Given the description of an element on the screen output the (x, y) to click on. 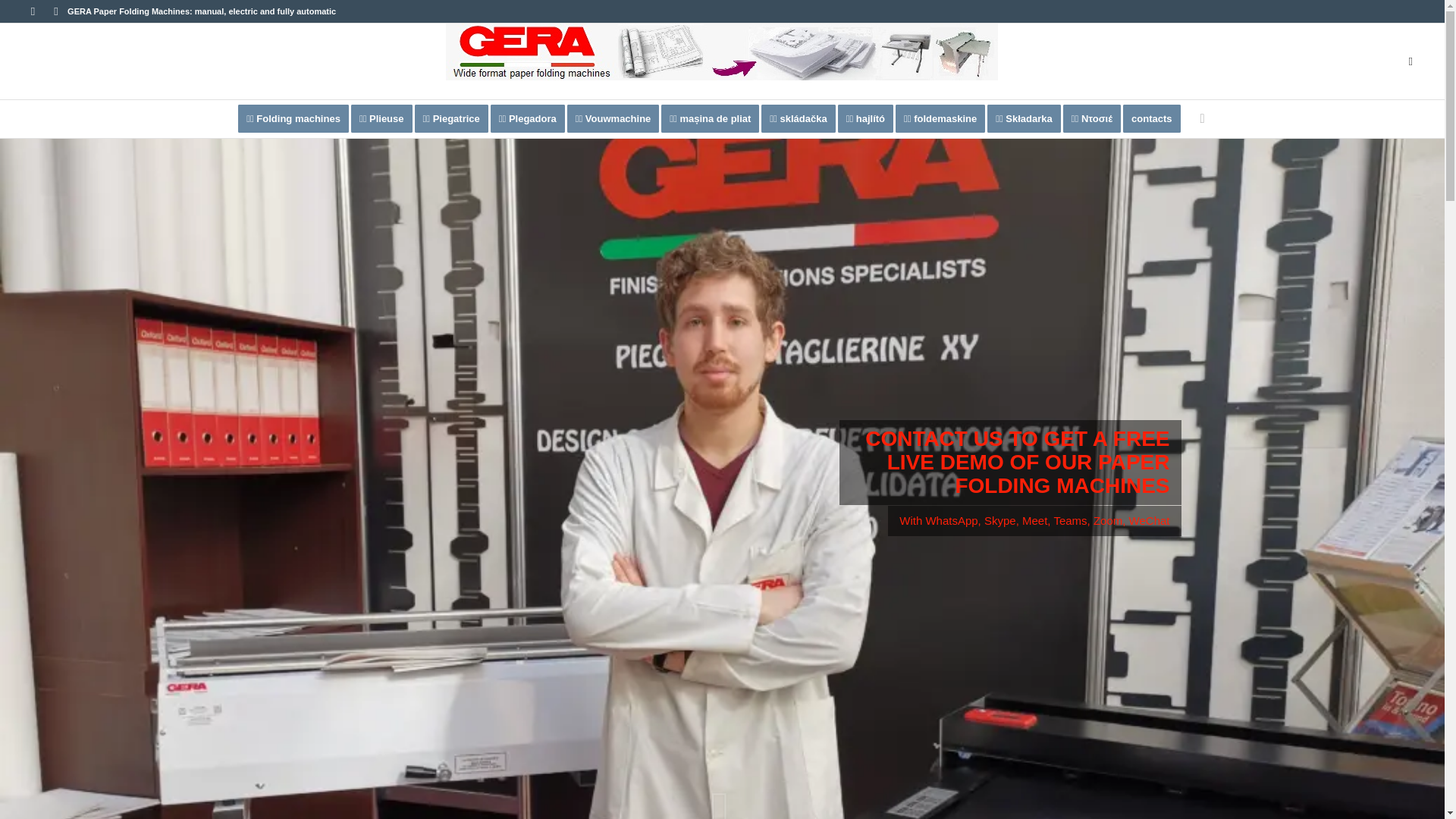
Scegliere la piegatrice per disegni (455, 118)
Logo gera extra lungo (721, 51)
Paper folding machine (293, 118)
LinkedIn (55, 11)
Logo gera extra lungo (721, 61)
Youtube (32, 11)
Plegadoras para papel A4  (532, 118)
FR Plieuse de plans (386, 118)
